Given the description of an element on the screen output the (x, y) to click on. 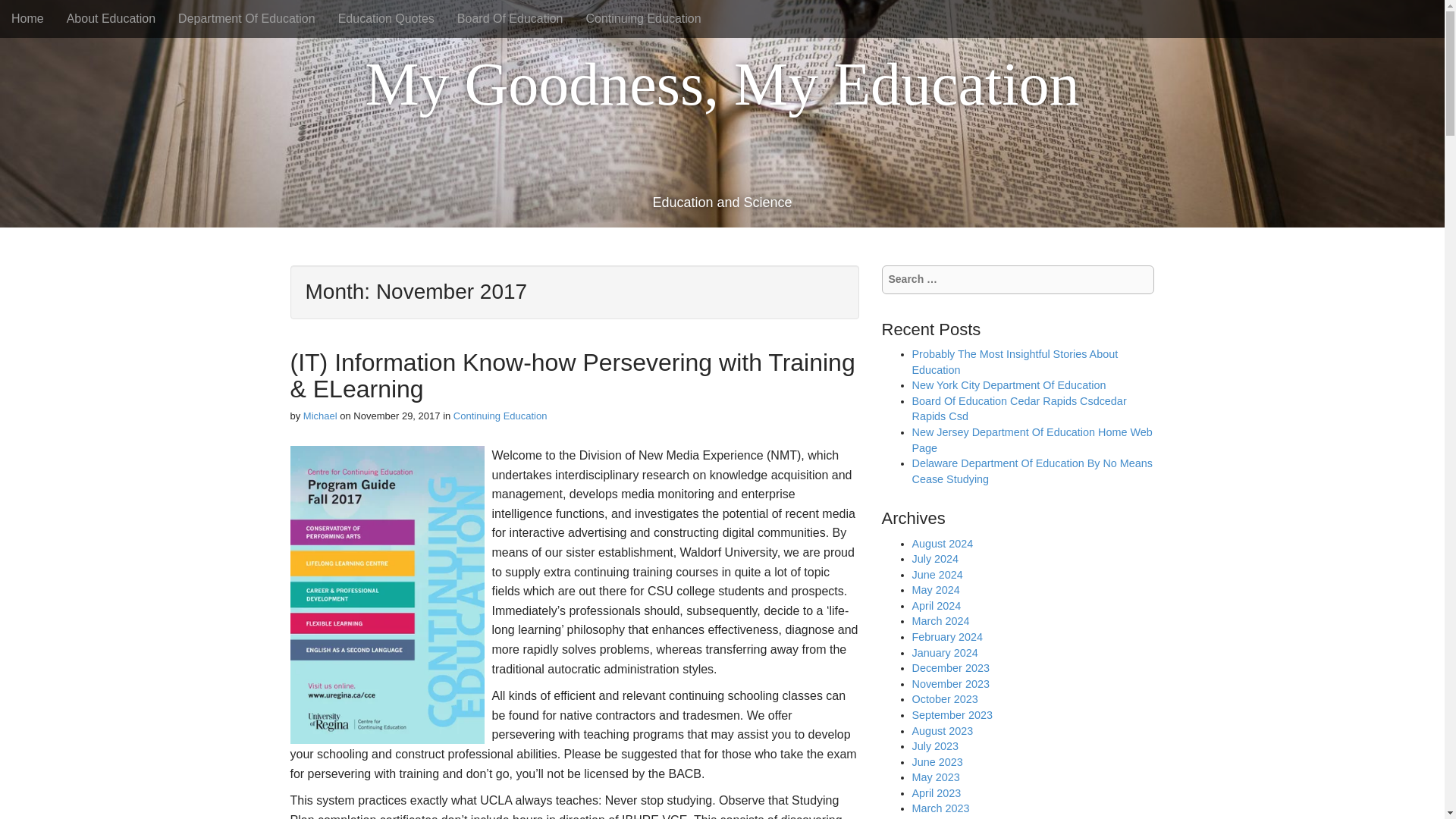
Education Quotes (385, 18)
Department Of Education (246, 18)
Continuing Education (499, 415)
November 29, 2017 (396, 415)
About Education (111, 18)
Michael (319, 415)
Posts by Michael (319, 415)
Board Of Education (510, 18)
Home (27, 18)
Continuing Education (644, 18)
